Given the description of an element on the screen output the (x, y) to click on. 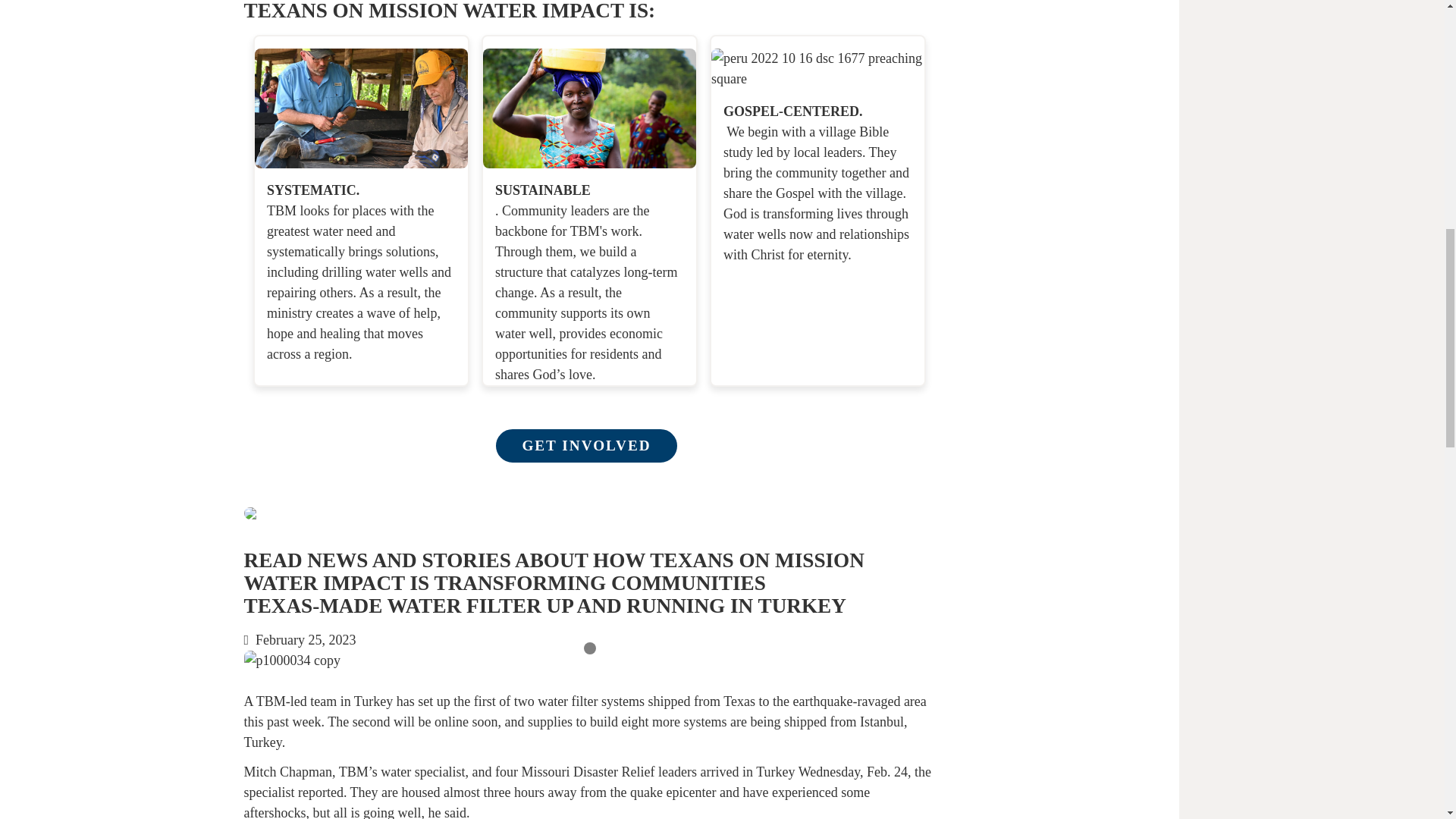
GET INVOLVED (586, 445)
